Given the description of an element on the screen output the (x, y) to click on. 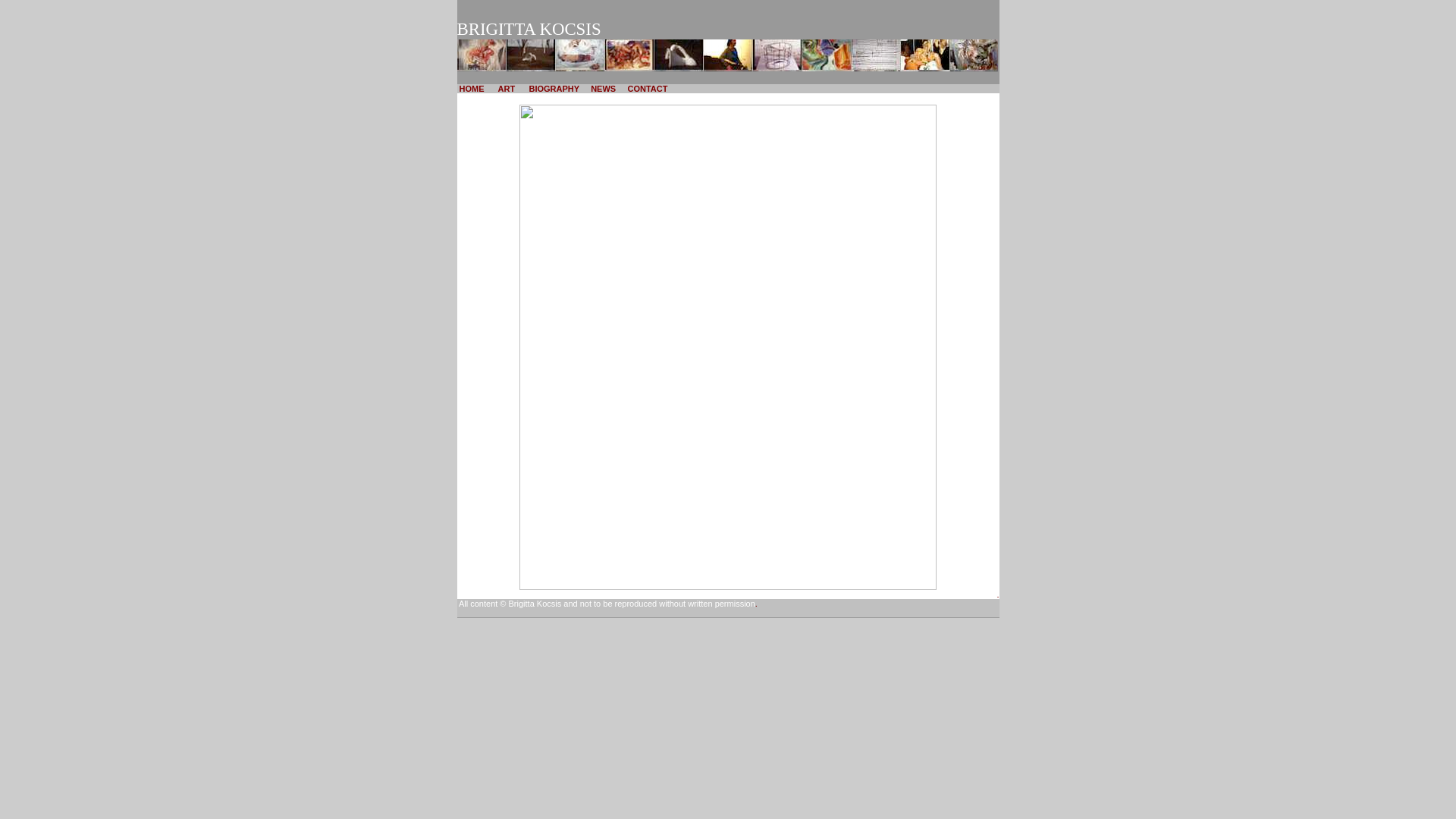
  Element type: text (494, 88)
ART   Element type: text (507, 88)
CONTACT  Element type: text (648, 88)
BIOGRAPHY Element type: text (553, 88)
 HOME  Element type: text (471, 88)
NEWS  Element type: text (604, 88)
